Given the description of an element on the screen output the (x, y) to click on. 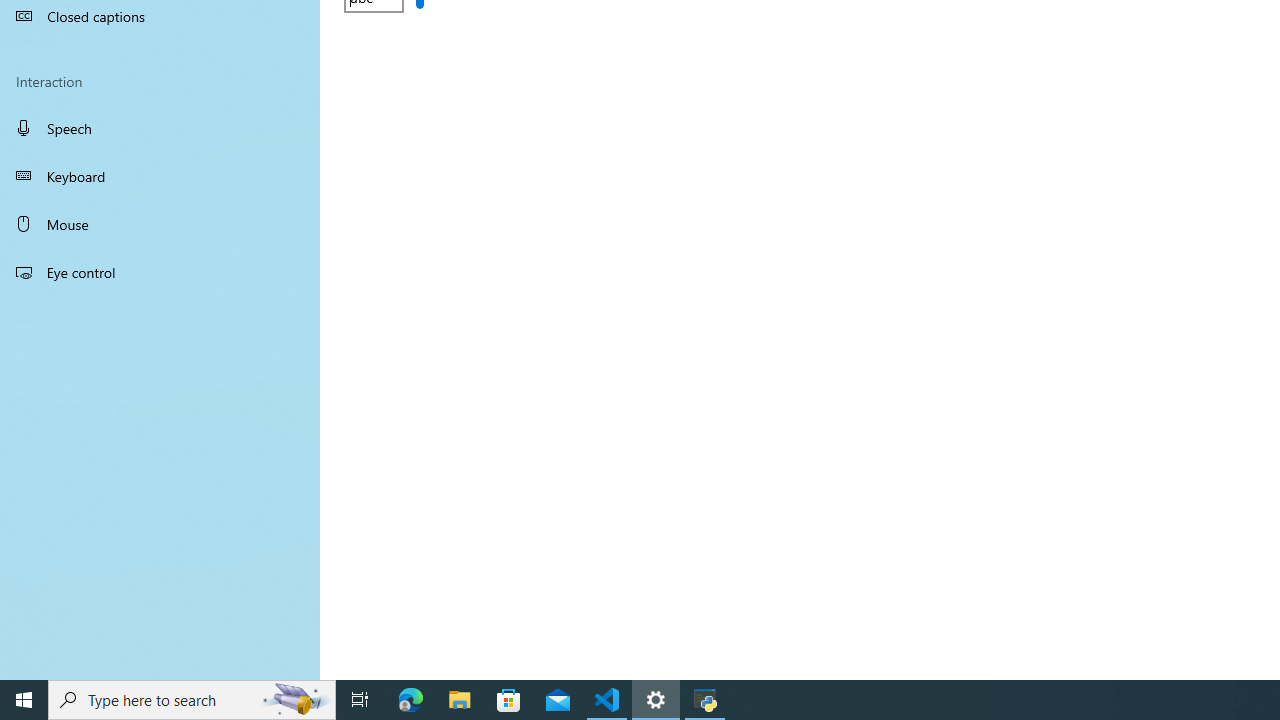
Search highlights icon opens search home window (295, 699)
Mouse (160, 223)
Speech (160, 127)
Eye control (160, 271)
File Explorer (460, 699)
Task View (359, 699)
Microsoft Edge (411, 699)
Start (24, 699)
Type here to search (191, 699)
Settings - 1 running window (656, 699)
Visual Studio Code - 1 running window (607, 699)
Keyboard (160, 175)
Microsoft Store (509, 699)
